Given the description of an element on the screen output the (x, y) to click on. 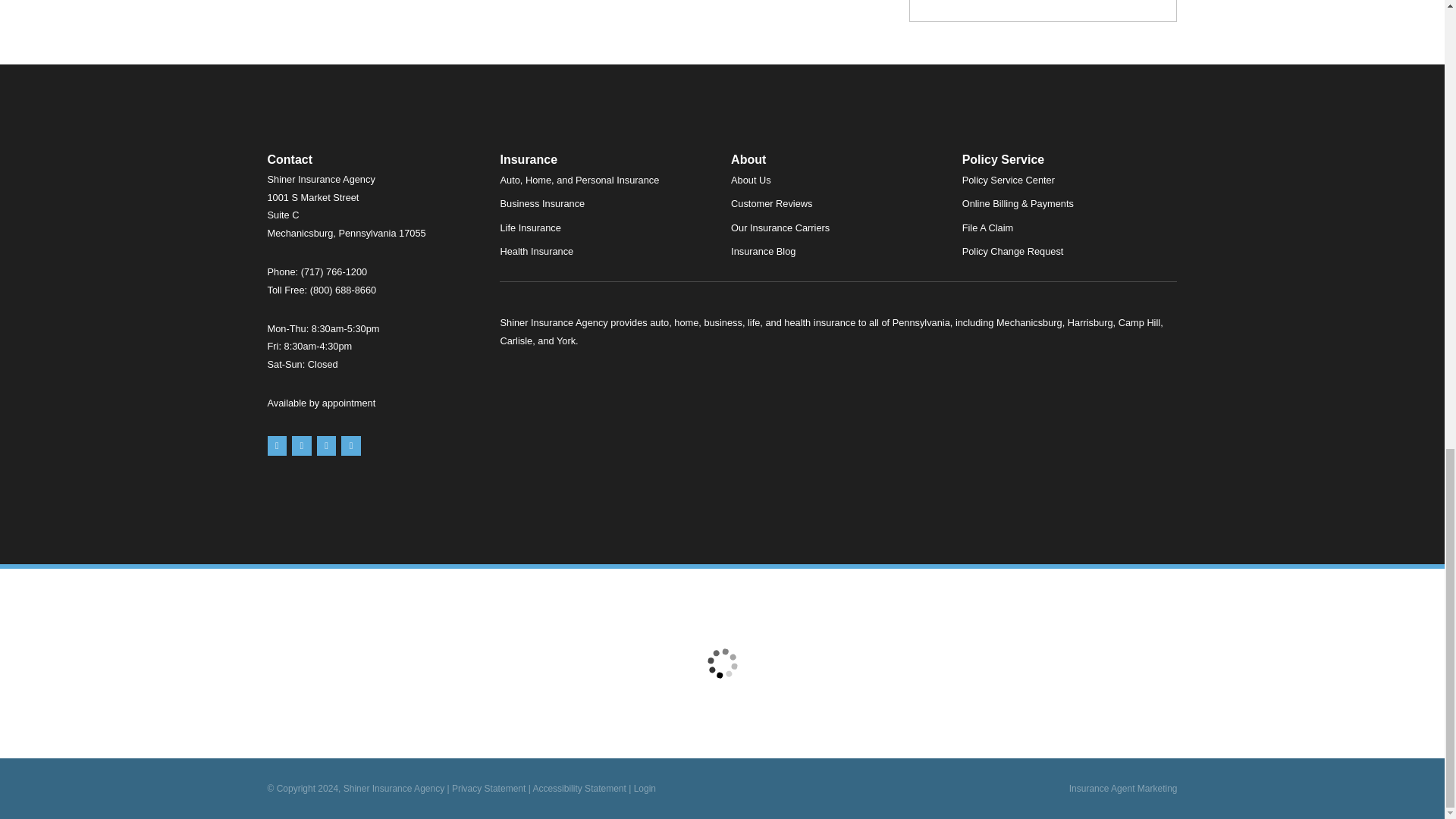
Google Maps (276, 445)
Yelp (301, 445)
Facebook (326, 445)
LinkedIn (350, 445)
